Given the description of an element on the screen output the (x, y) to click on. 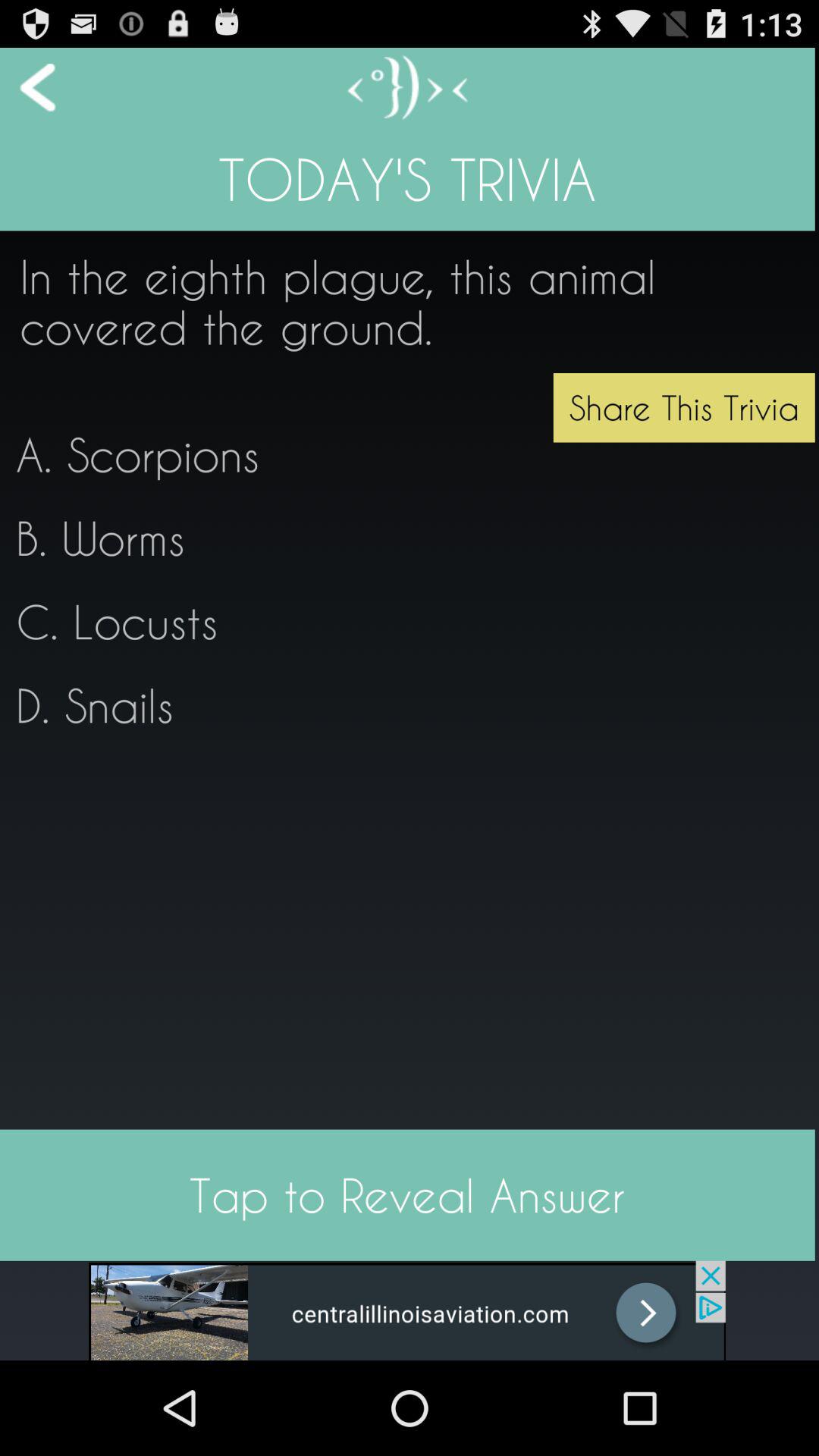
open an advertisements (406, 1310)
